Given the description of an element on the screen output the (x, y) to click on. 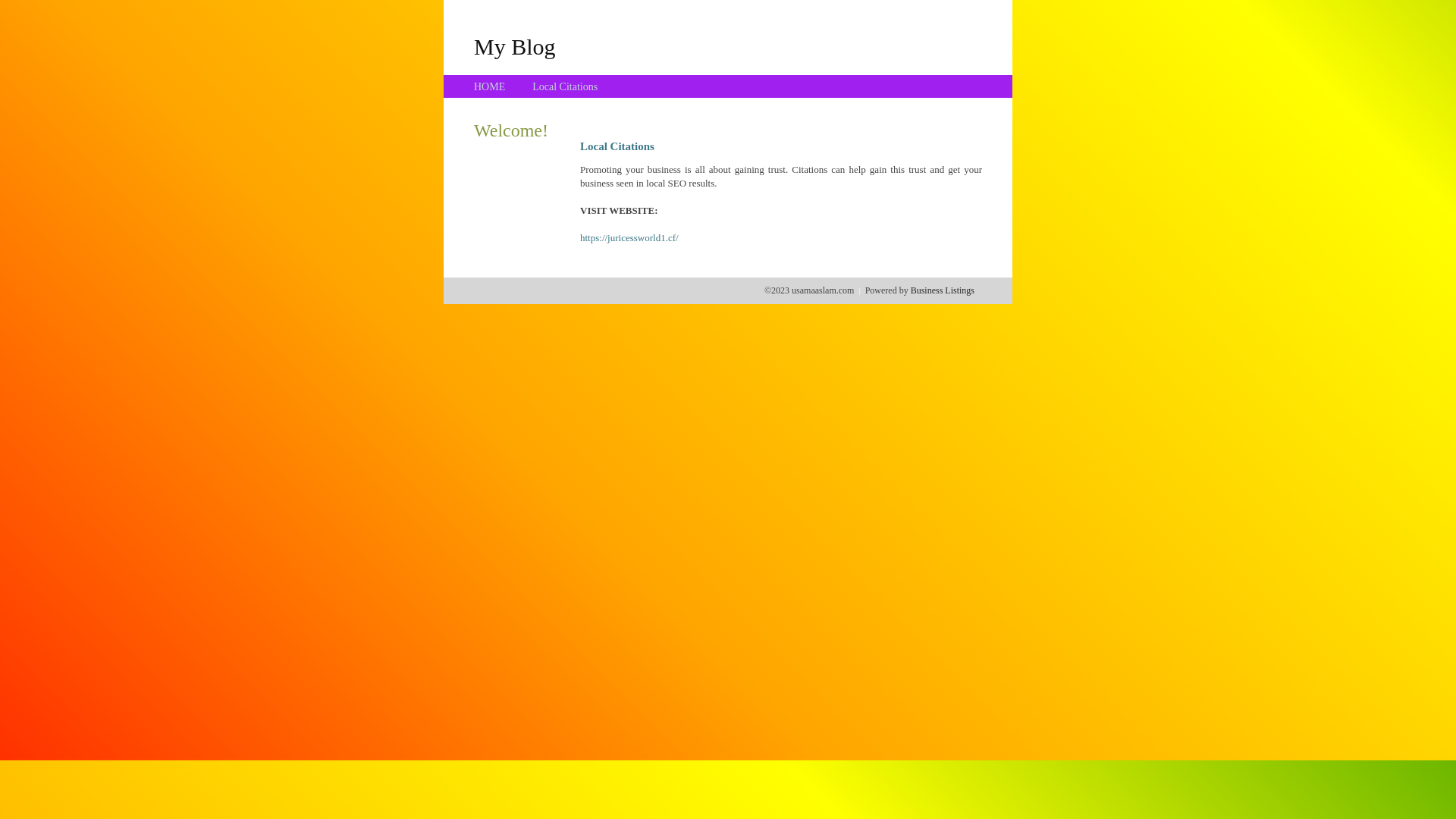
https://juricessworld1.cf/ Element type: text (629, 237)
My Blog Element type: text (514, 46)
HOME Element type: text (489, 86)
Local Citations Element type: text (564, 86)
Business Listings Element type: text (942, 290)
